Given the description of an element on the screen output the (x, y) to click on. 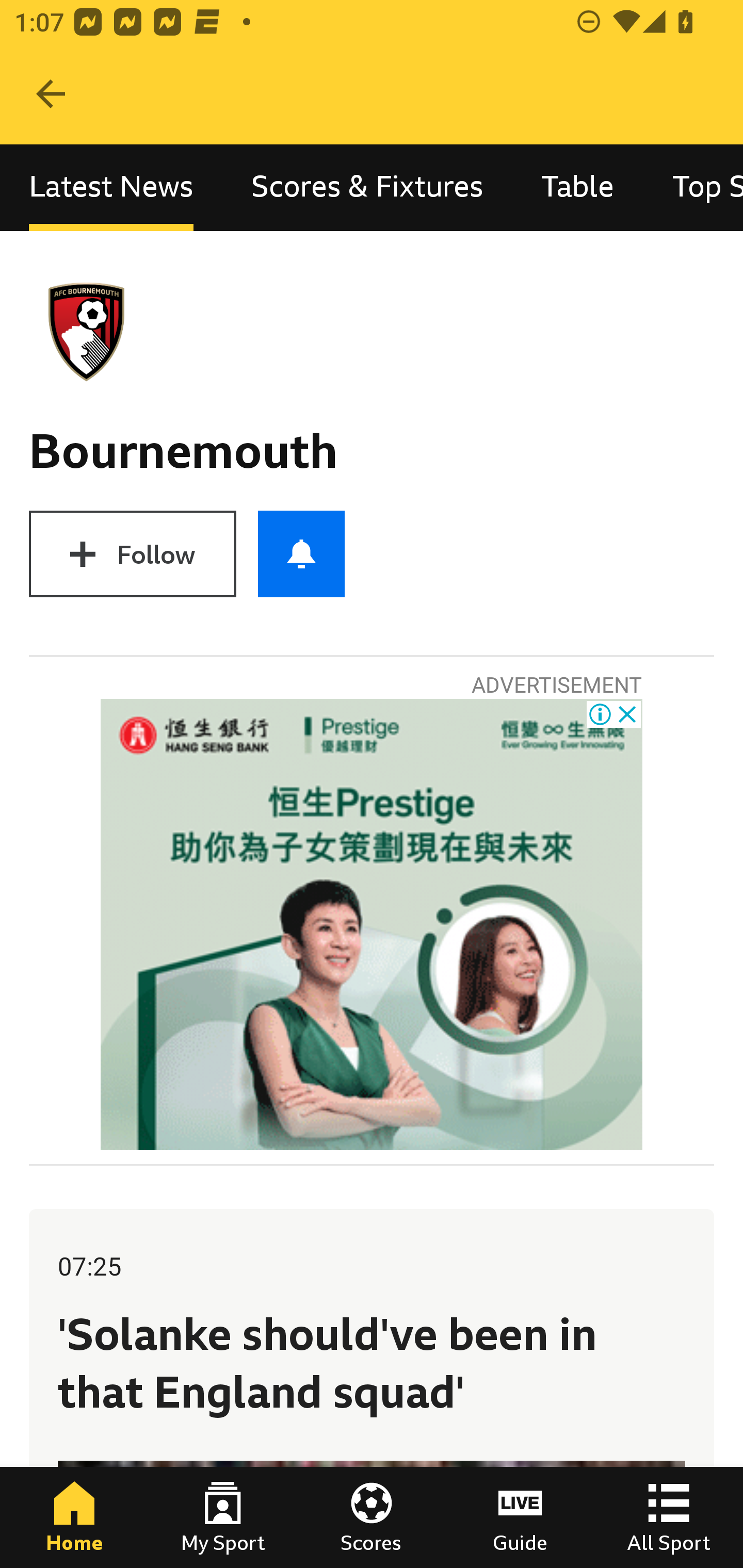
Navigate up (50, 93)
Latest News, selected Latest News (111, 187)
Scores & Fixtures (367, 187)
Table (577, 187)
Top Scorers (693, 187)
Follow Bournemouth Follow (132, 554)
Push notifications for Bournemouth (300, 554)
Advertisement (371, 924)
My Sport (222, 1517)
Scores (371, 1517)
Guide (519, 1517)
All Sport (668, 1517)
